Given the description of an element on the screen output the (x, y) to click on. 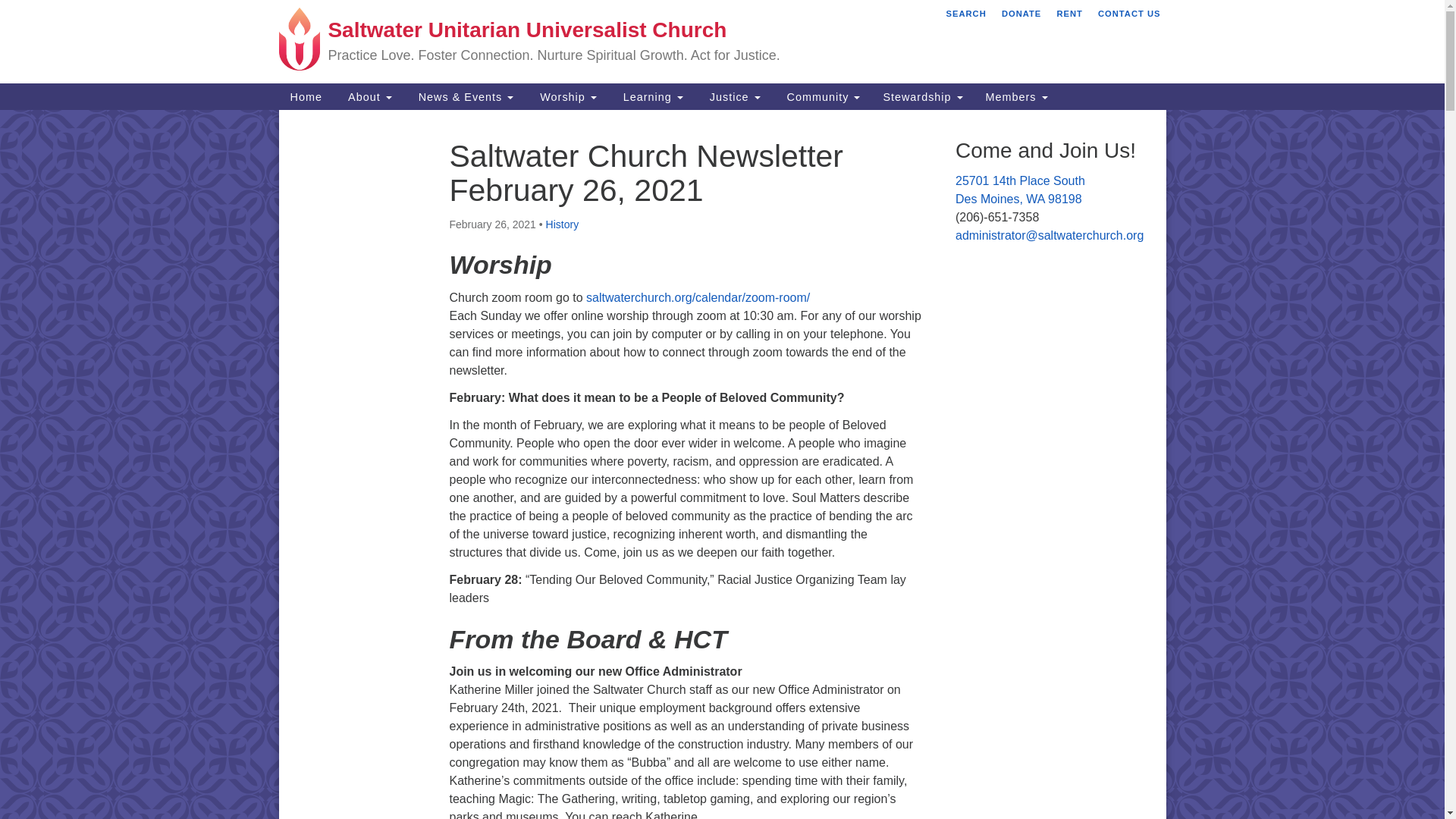
 Learning (651, 96)
DONATE (1020, 13)
SEARCH (965, 13)
RENT (1069, 13)
 About (368, 96)
CONTACT US (1129, 13)
Home (306, 96)
 Worship (566, 96)
Home (306, 96)
About (368, 96)
